Given the description of an element on the screen output the (x, y) to click on. 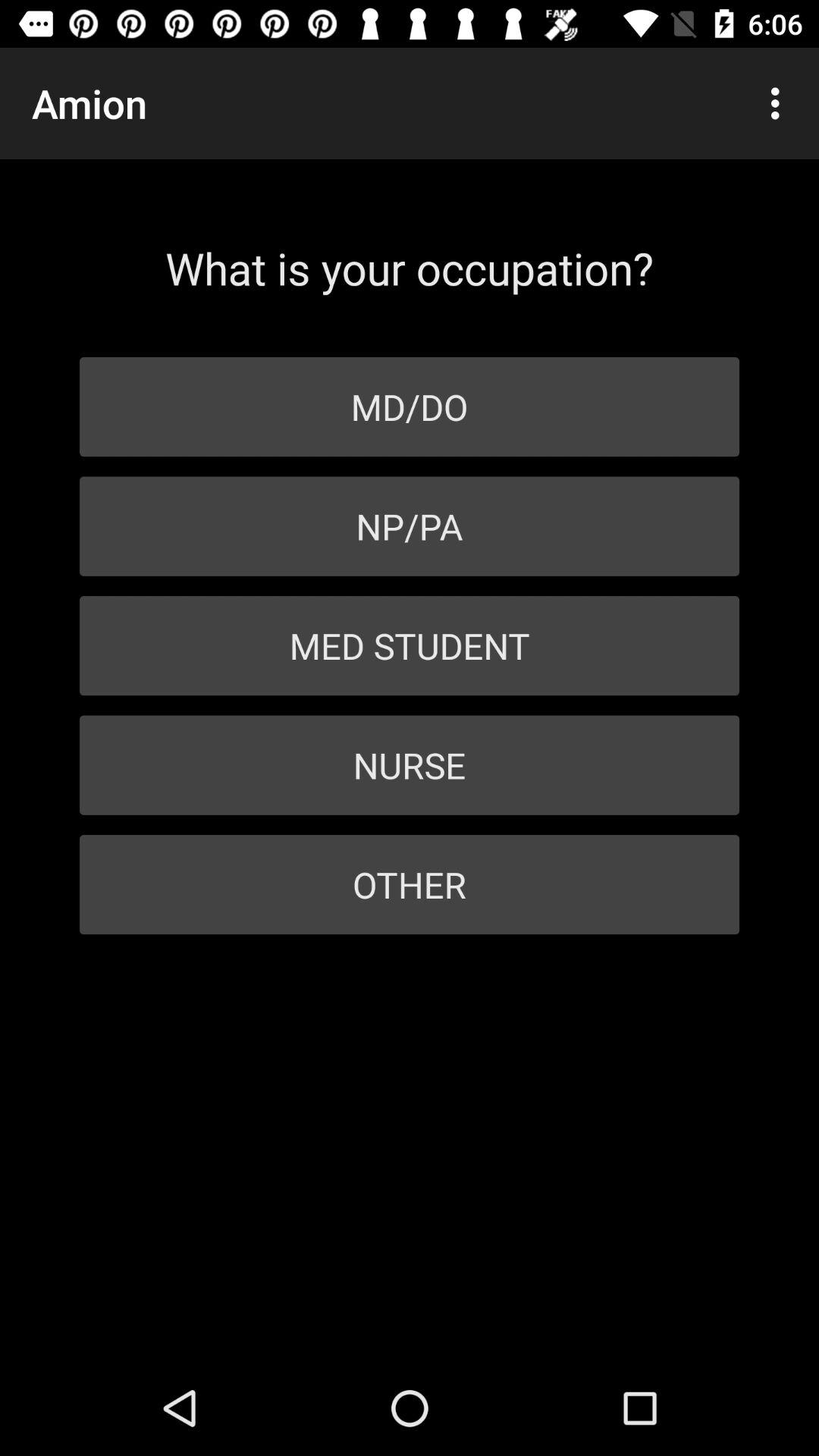
jump to med student item (409, 645)
